Given the description of an element on the screen output the (x, y) to click on. 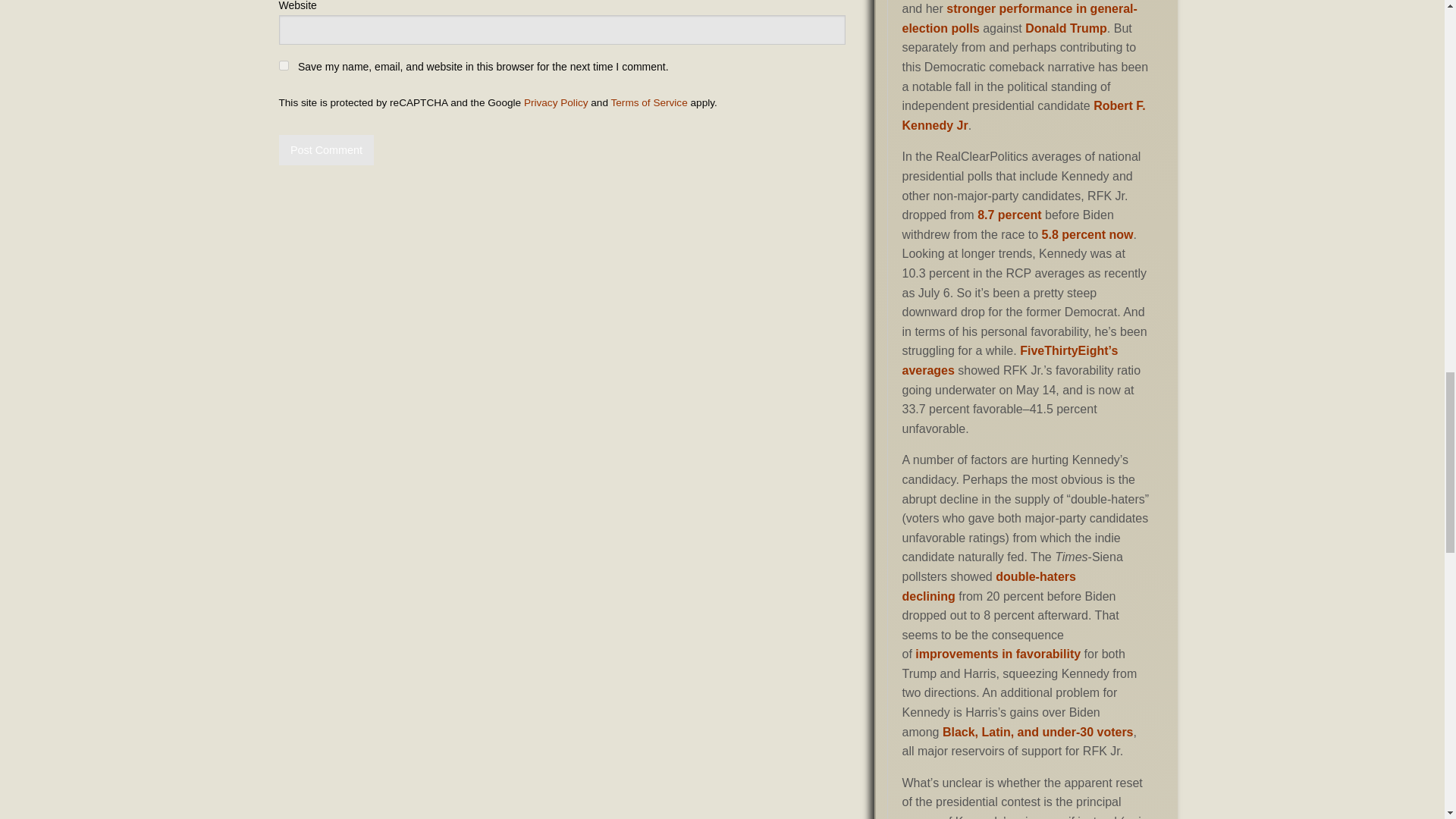
Post Comment (326, 150)
yes (283, 65)
Privacy Policy (556, 102)
Terms of Service (649, 102)
Post Comment (326, 150)
